Given the description of an element on the screen output the (x, y) to click on. 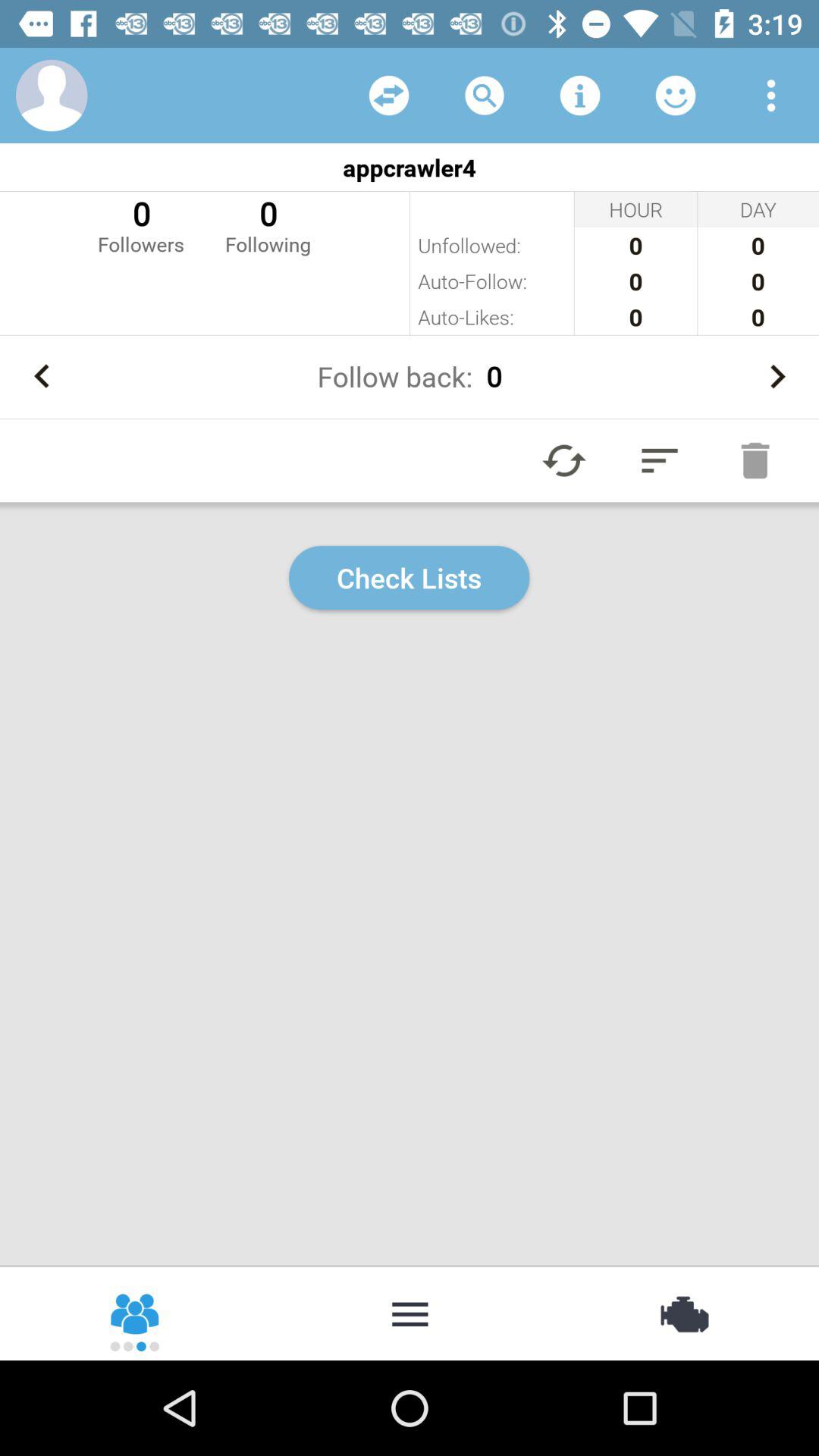
show the list (409, 1312)
